Given the description of an element on the screen output the (x, y) to click on. 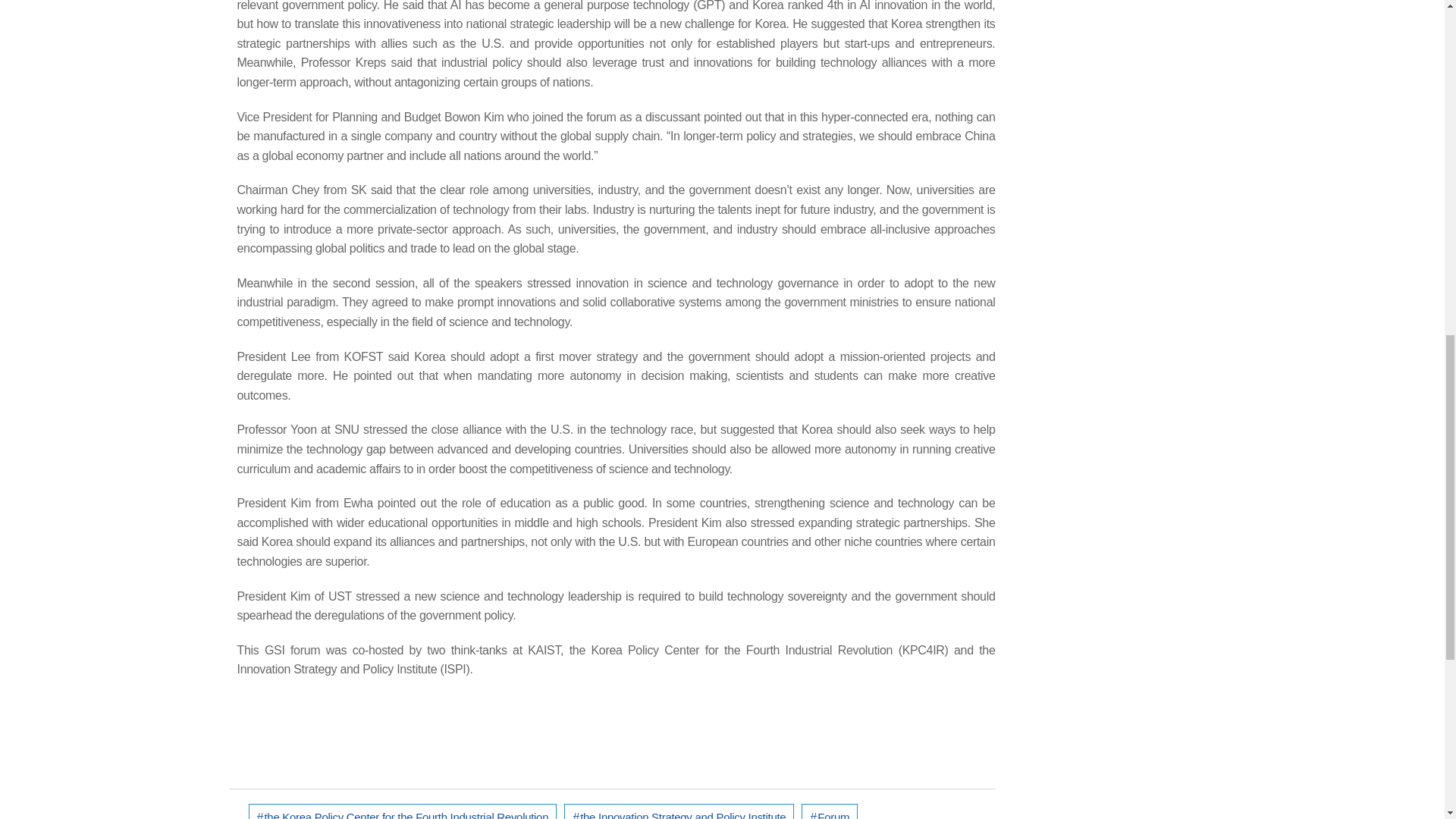
Forum (829, 811)
the Innovation Strategy and Policy Institute (678, 811)
the Korea Policy Center for the Fourth Industrial Revolution (402, 811)
